Given the description of an element on the screen output the (x, y) to click on. 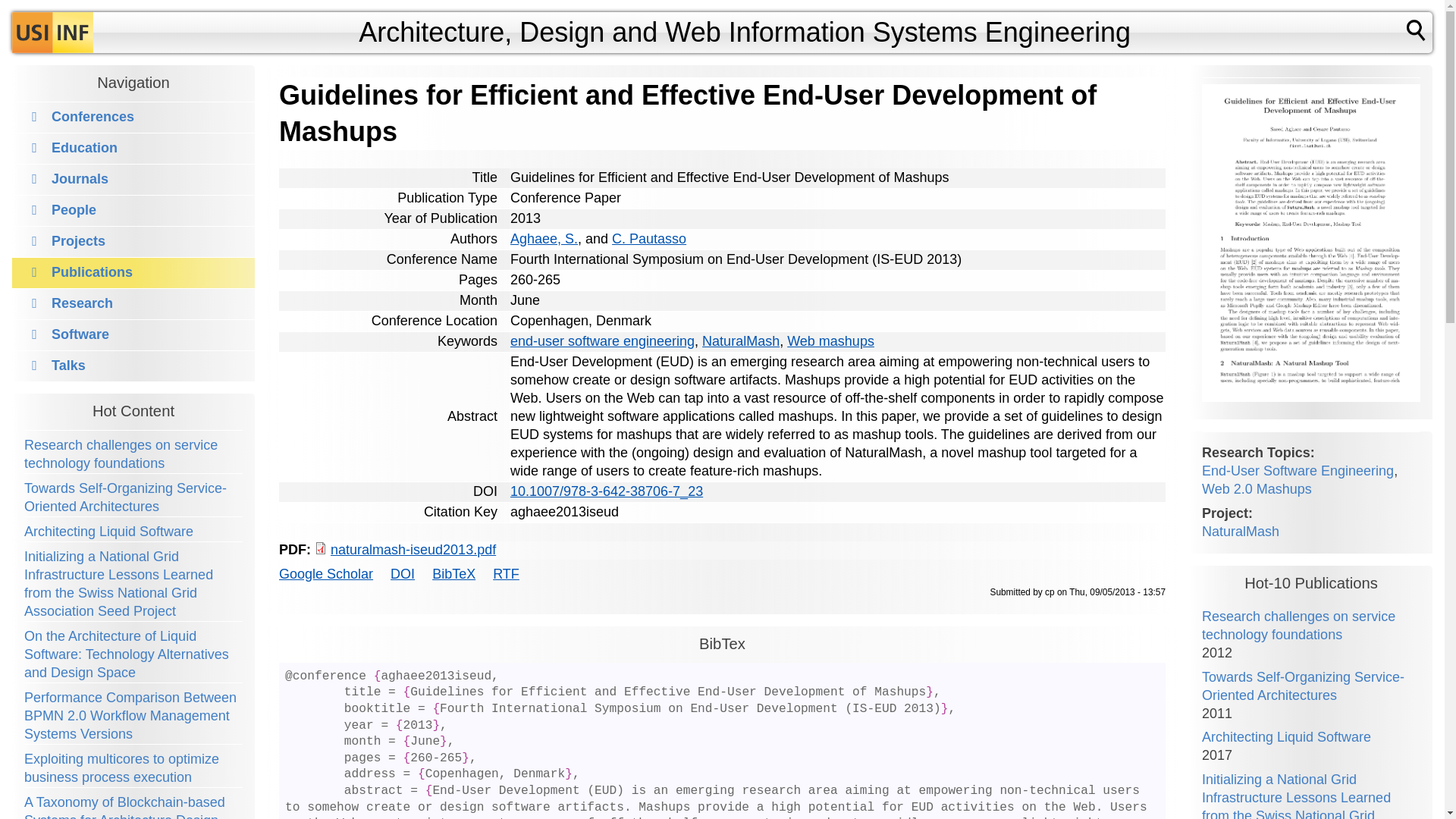
Journals (65, 178)
Talks (54, 365)
Home (744, 31)
Home (52, 32)
Research challenges on service technology foundations (1298, 625)
NaturalMash (1240, 531)
Web 2.0 Mashups (1256, 488)
naturalmash-iseud2013.pdf (413, 549)
Publications (78, 272)
Software (66, 334)
Web mashups (831, 340)
BibTeX (454, 573)
DOI (402, 573)
